Given the description of an element on the screen output the (x, y) to click on. 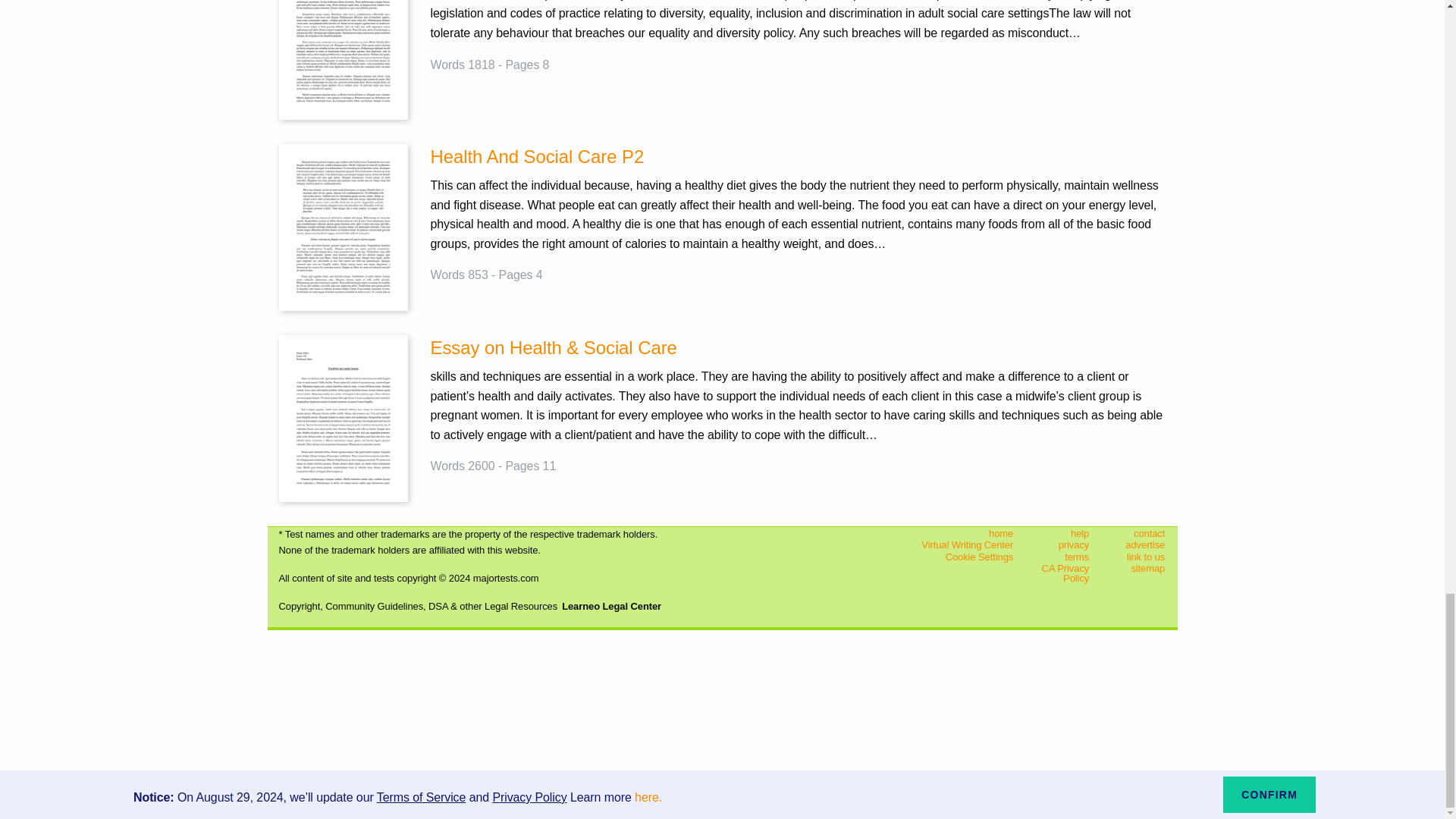
Health and Social Care Essay (343, 35)
home (949, 532)
Learneo Legal Center (611, 605)
Health And Social Care P2 (798, 156)
Virtual Writing Center (949, 544)
Cookie Settings (949, 557)
Health And Social Care P2 (798, 156)
Health And Social Care P2 (343, 226)
